Given the description of an element on the screen output the (x, y) to click on. 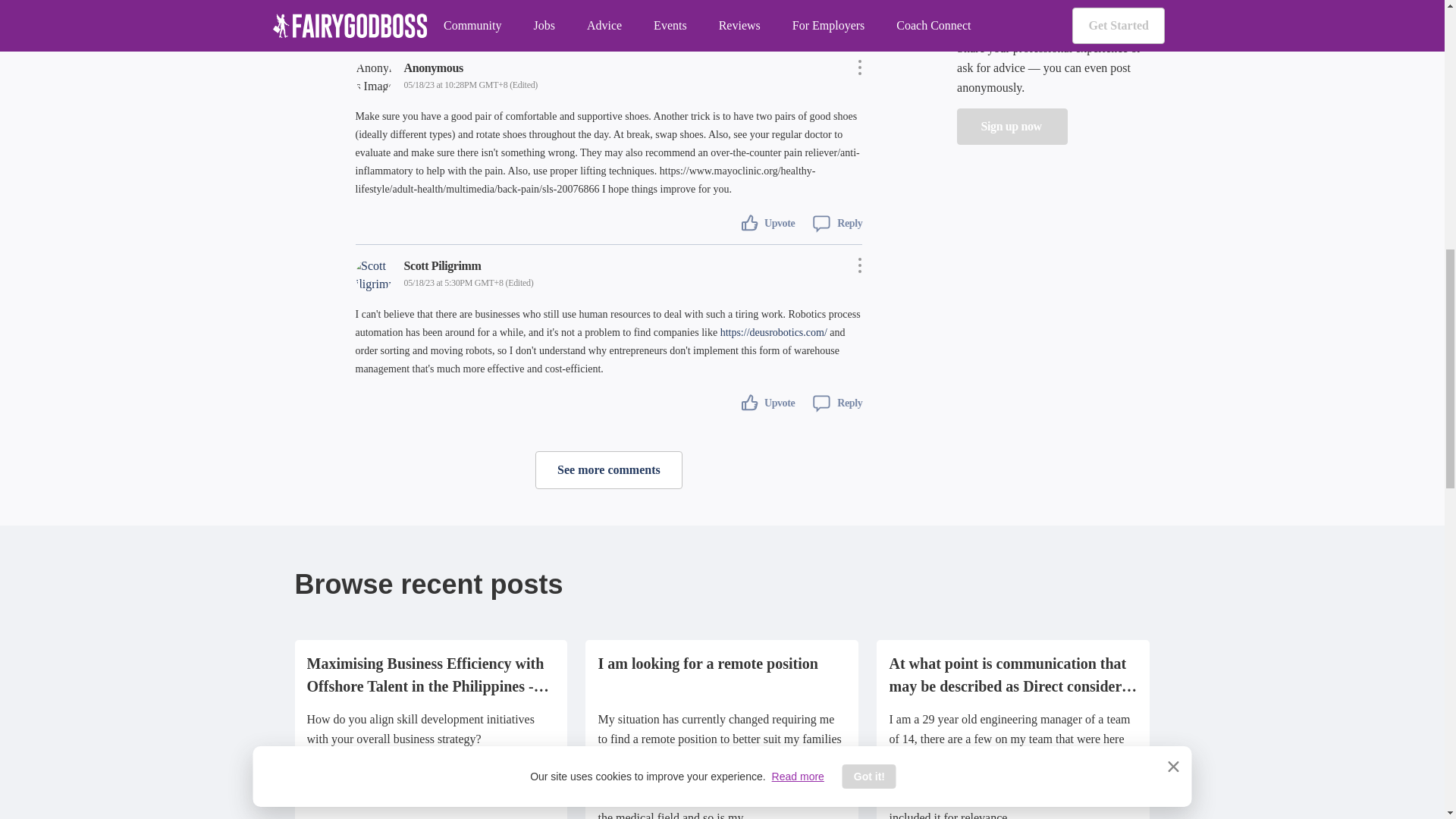
Sign up now (1011, 126)
Reply (830, 220)
Upvote (767, 220)
